Given the description of an element on the screen output the (x, y) to click on. 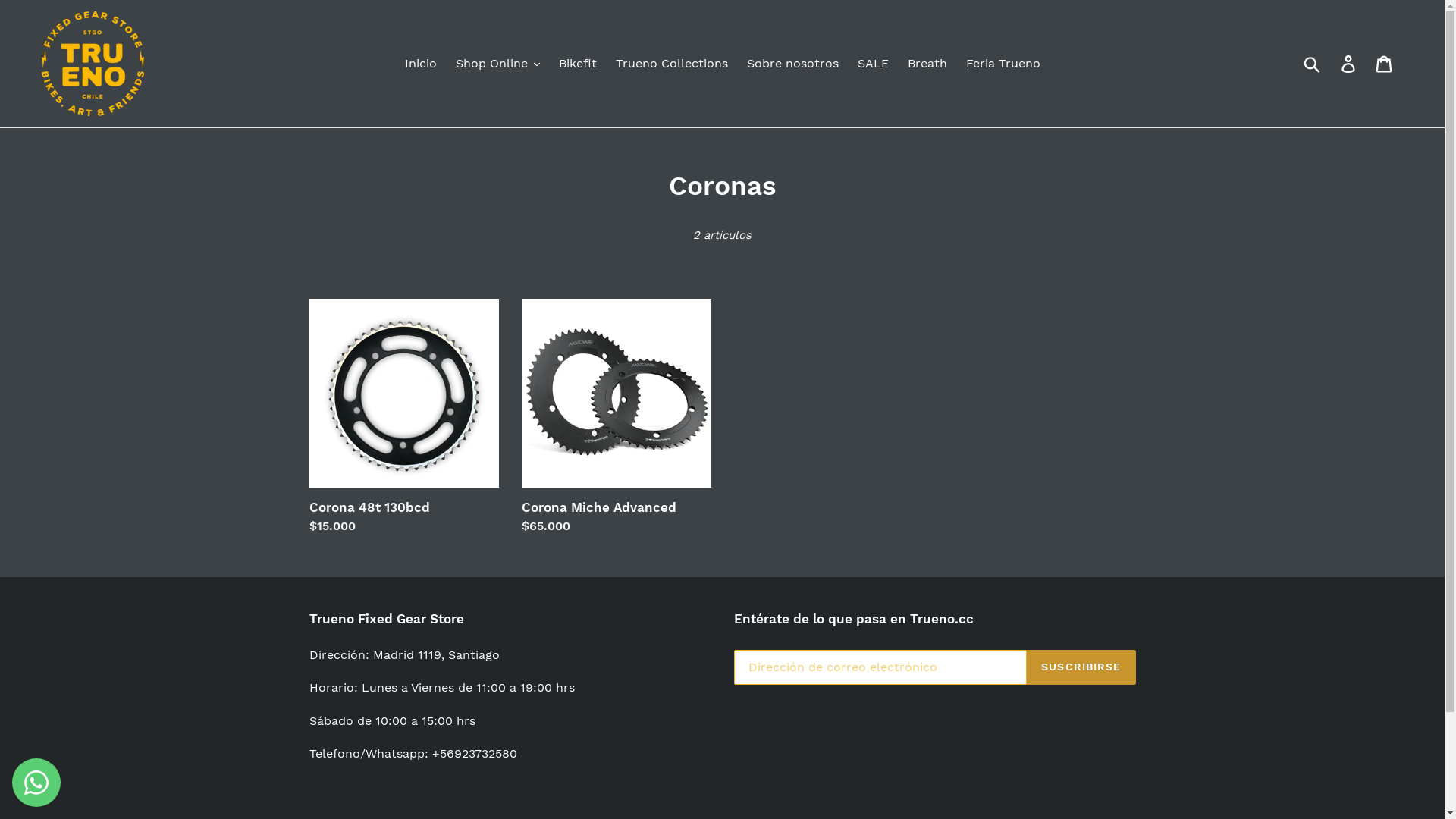
Bikefit Element type: text (576, 63)
Trueno Collections Element type: text (671, 63)
Ingresar Element type: text (1349, 64)
Sobre nosotros Element type: text (791, 63)
Buscar Element type: text (1312, 63)
Carrito Element type: text (1384, 64)
Breath Element type: text (926, 63)
Corona 48t 130bcd Element type: text (403, 417)
Feria Trueno Element type: text (1003, 63)
Inicio Element type: text (420, 63)
SUSCRIBIRSE Element type: text (1080, 666)
Corona Miche Advanced Element type: text (616, 417)
SALE Element type: text (872, 63)
